Given the description of an element on the screen output the (x, y) to click on. 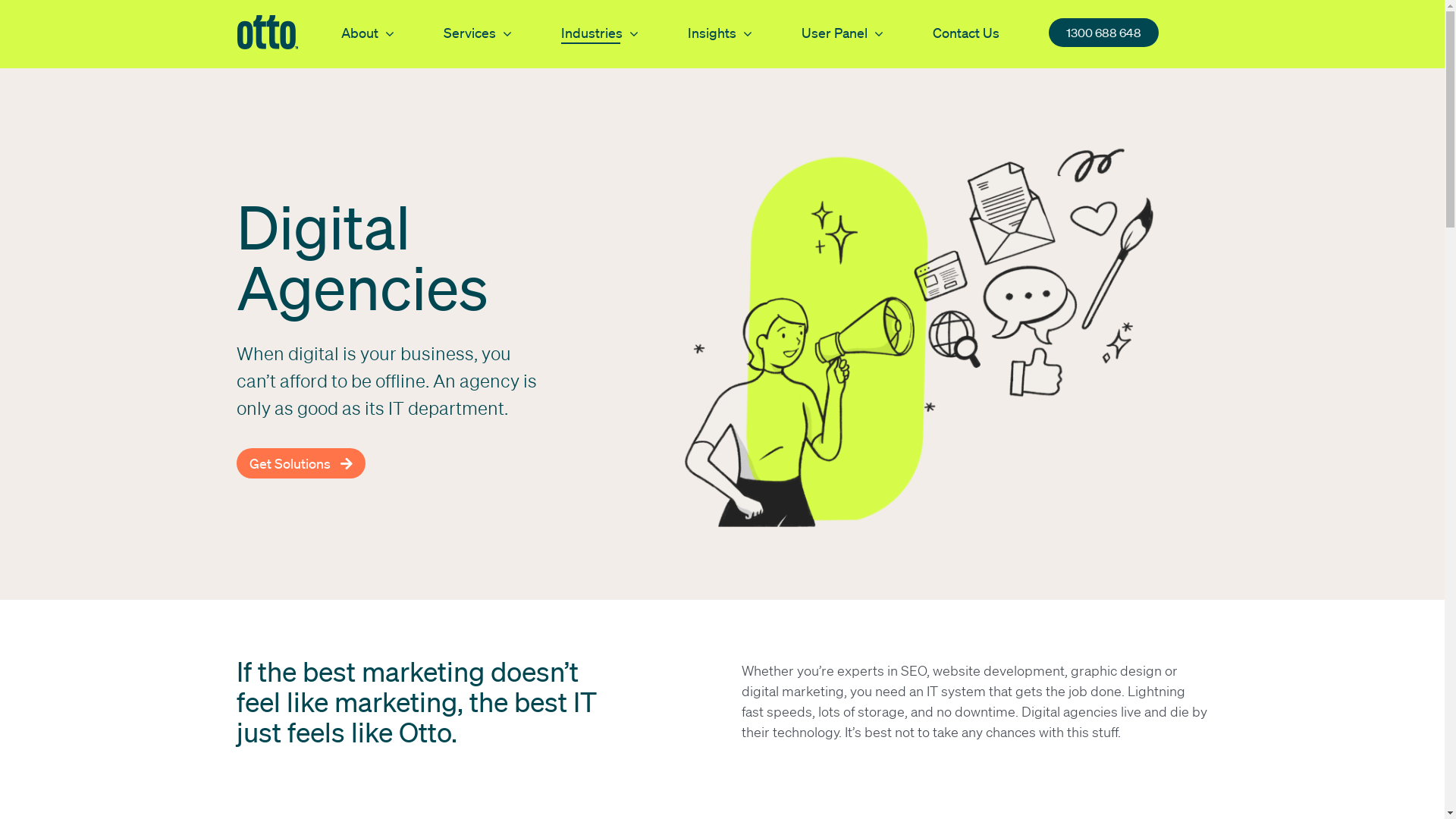
1300 688 648 Element type: text (1102, 32)
User Panel Element type: text (841, 32)
Contact Us Element type: text (965, 32)
About Element type: text (367, 32)
Services Element type: text (476, 32)
Digital Agencies Element type: hover (924, 329)
Industries Element type: text (599, 32)
Otto Logo Teal Min Element type: hover (266, 32)
Get Solutions Element type: text (300, 463)
Insights Element type: text (719, 32)
